Given the description of an element on the screen output the (x, y) to click on. 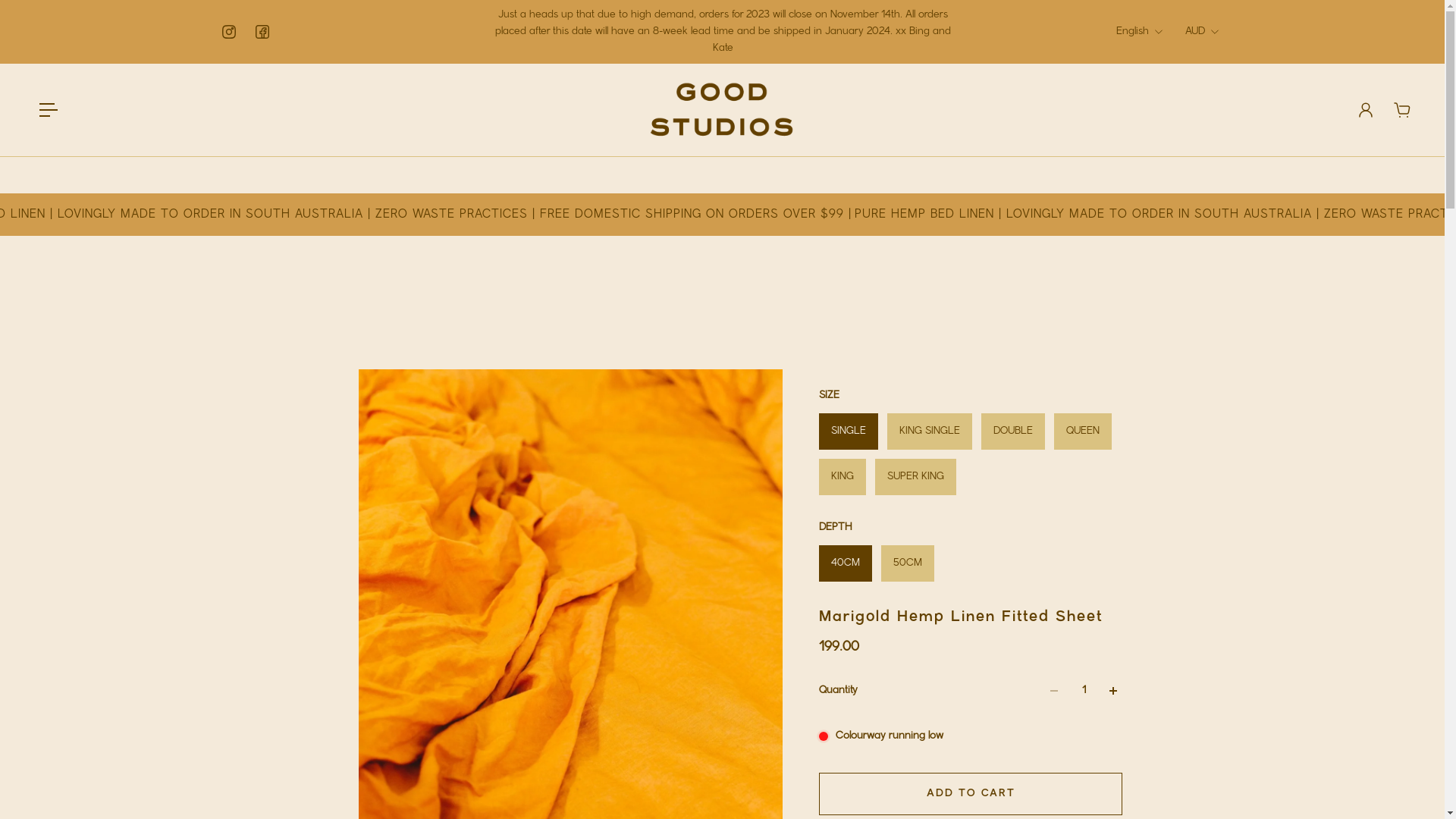
ADD TO CART Element type: text (970, 793)
